Given the description of an element on the screen output the (x, y) to click on. 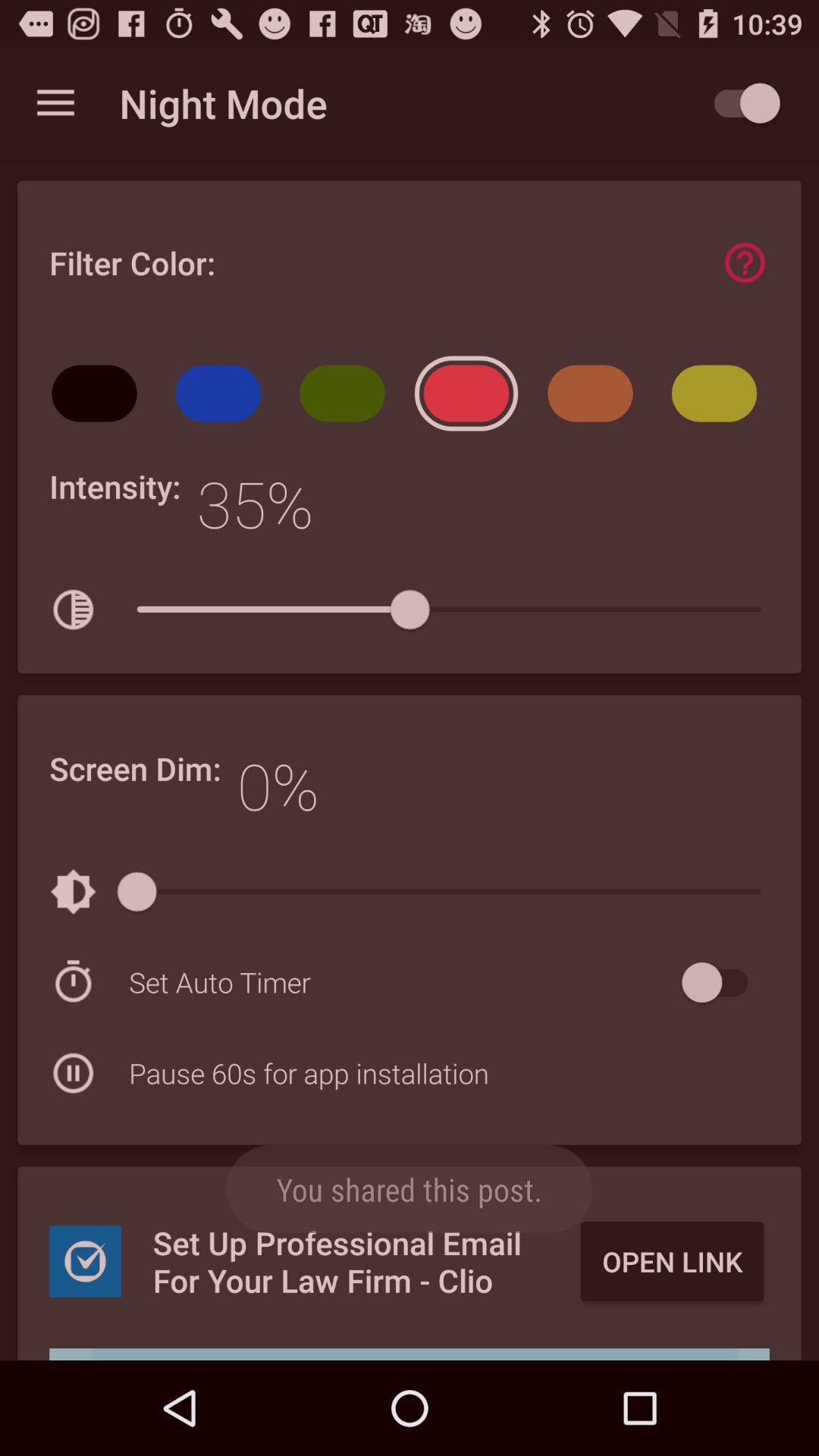
increase the volume (409, 1354)
